Given the description of an element on the screen output the (x, y) to click on. 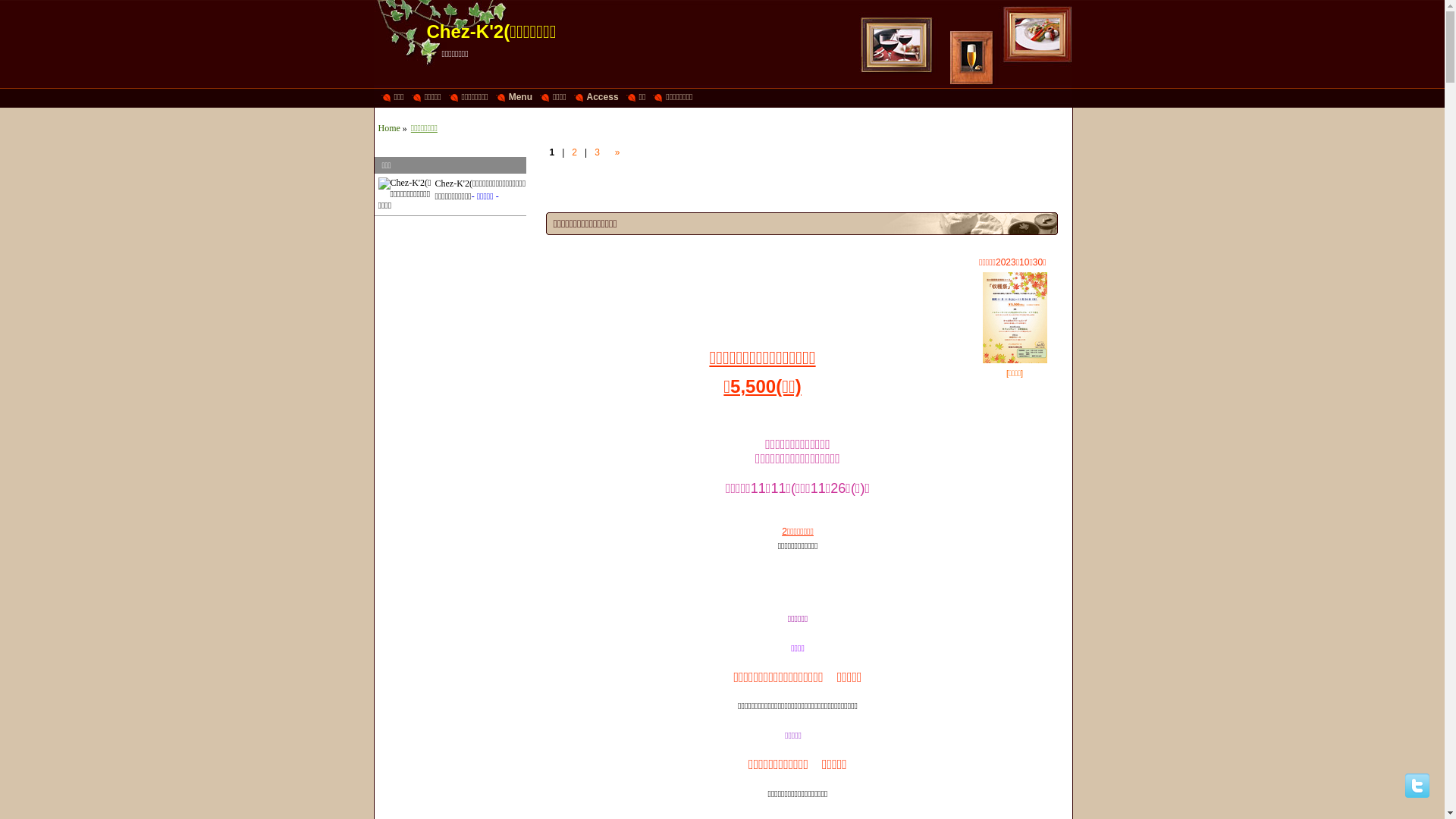
Home Element type: text (388, 127)
3 Element type: text (596, 152)
2 Element type: text (574, 152)
Access Element type: text (596, 96)
Menu Element type: text (513, 96)
